Given the description of an element on the screen output the (x, y) to click on. 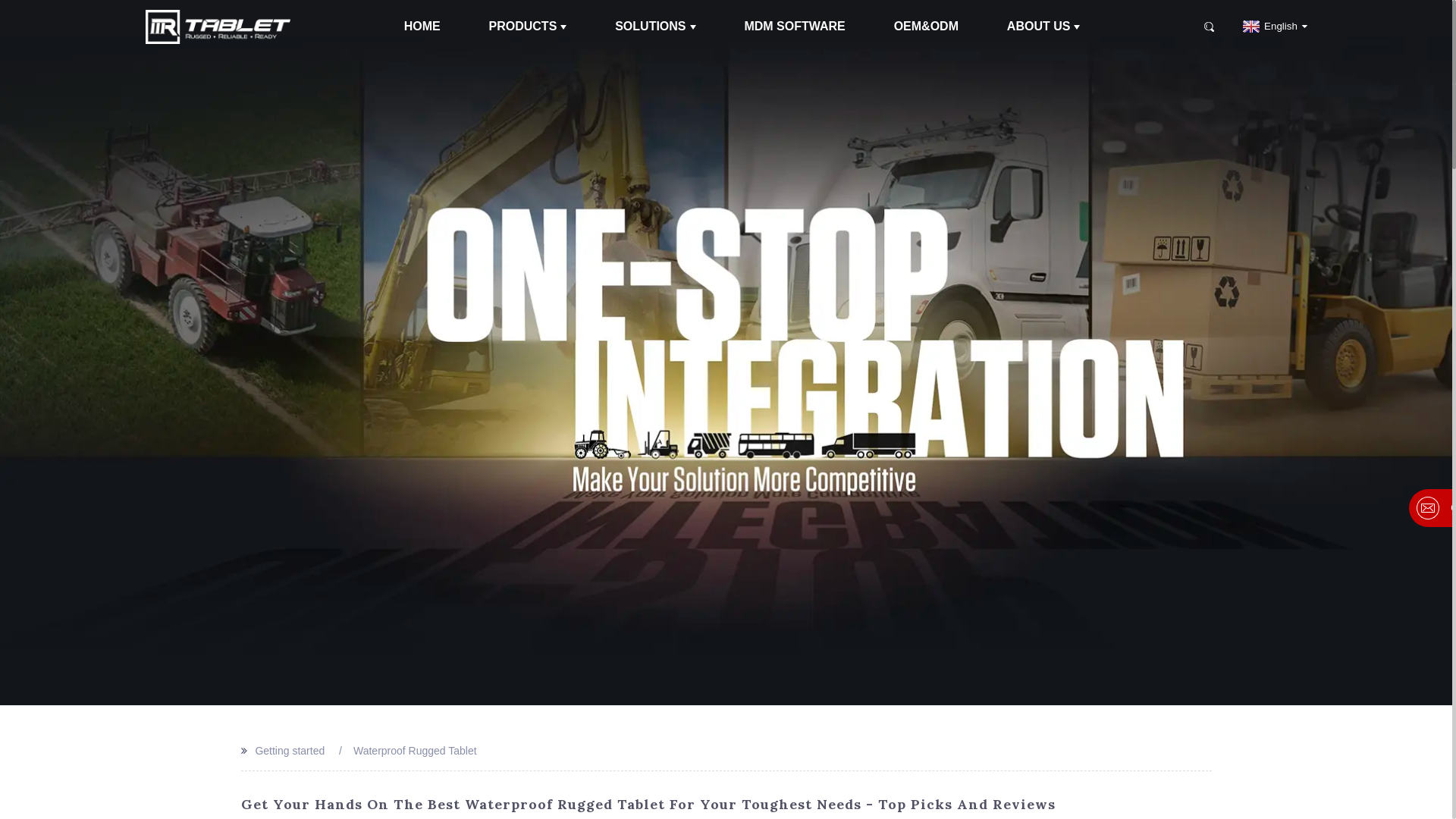
Getting started Element type: text (289, 750)
ABOUT US Element type: text (1043, 26)
OEM&ODM Element type: text (926, 26)
PRODUCTS Element type: text (528, 26)
SOLUTIONS Element type: text (655, 26)
HOME Element type: text (422, 26)
English Element type: text (1272, 25)
MDM SOFTWARE Element type: text (793, 26)
Waterproof Rugged Tablet Element type: text (414, 750)
